Given the description of an element on the screen output the (x, y) to click on. 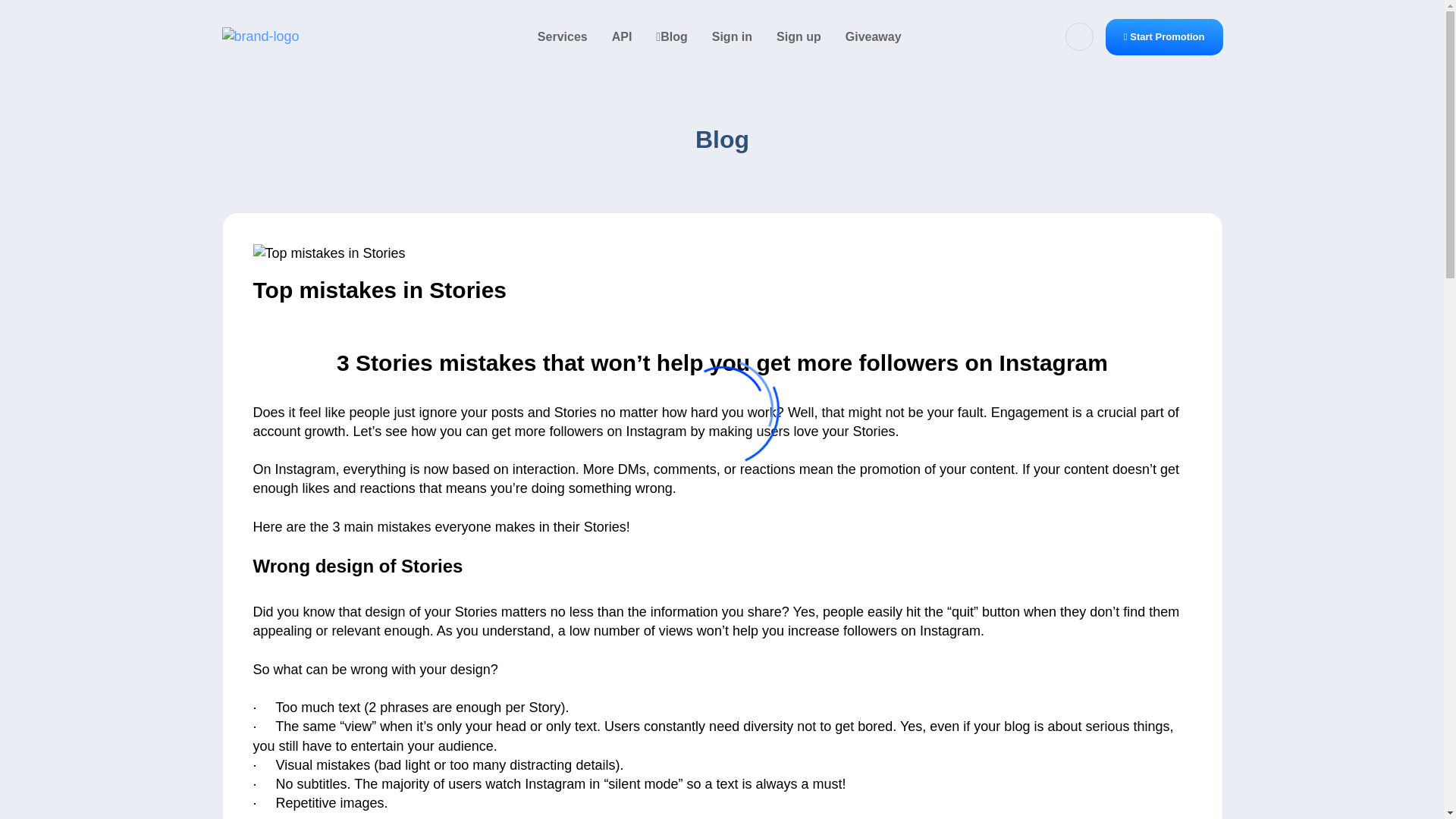
Services (562, 36)
Giveaway (873, 36)
 Start Promotion (1164, 36)
Blog (670, 36)
Sign up (798, 36)
Sign in (732, 36)
